Given the description of an element on the screen output the (x, y) to click on. 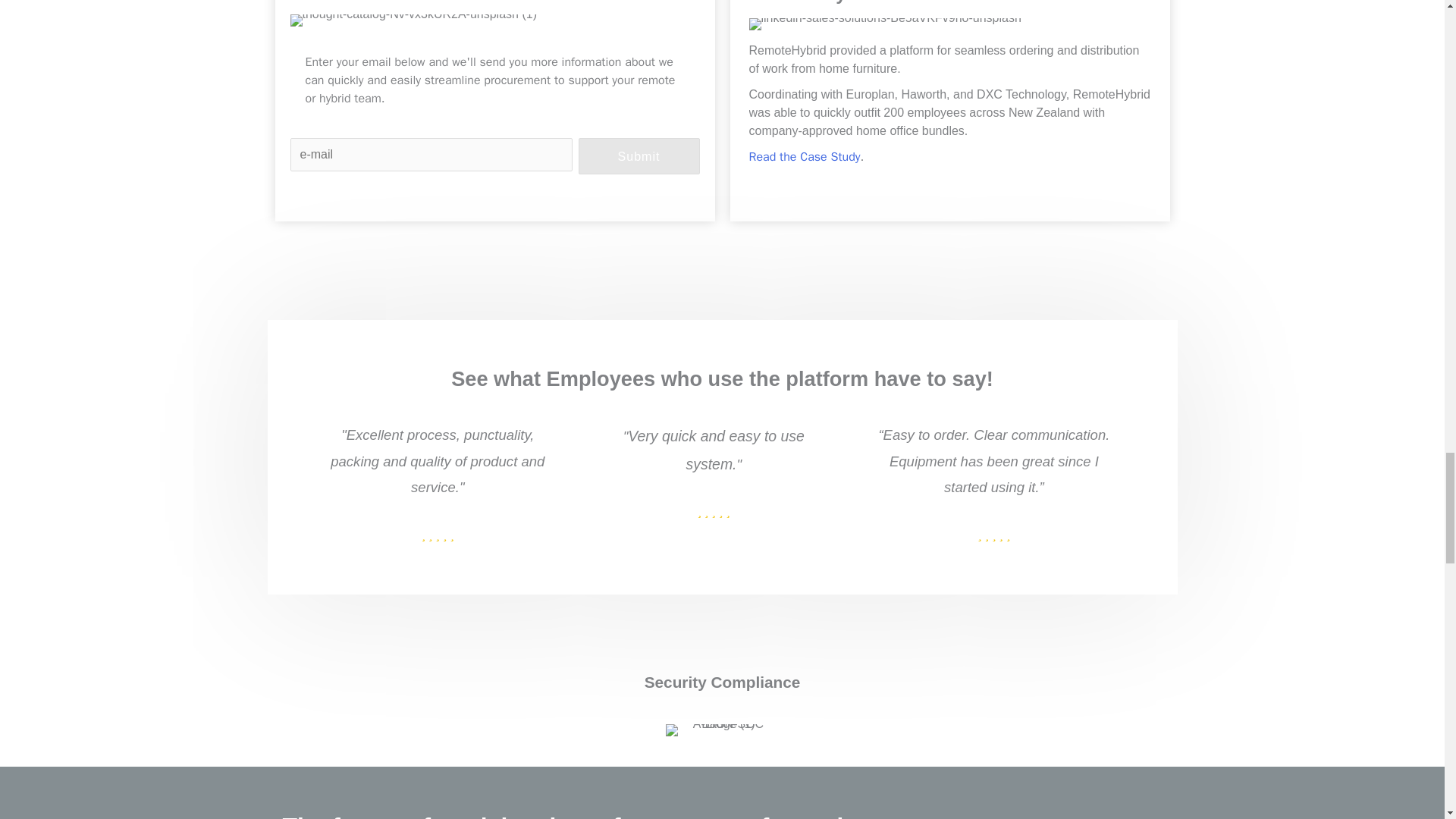
Submit (638, 156)
Read the Case Study (804, 156)
linkedin-sales-solutions-Be5aVKFv9ho-unsplash (885, 24)
